Given the description of an element on the screen output the (x, y) to click on. 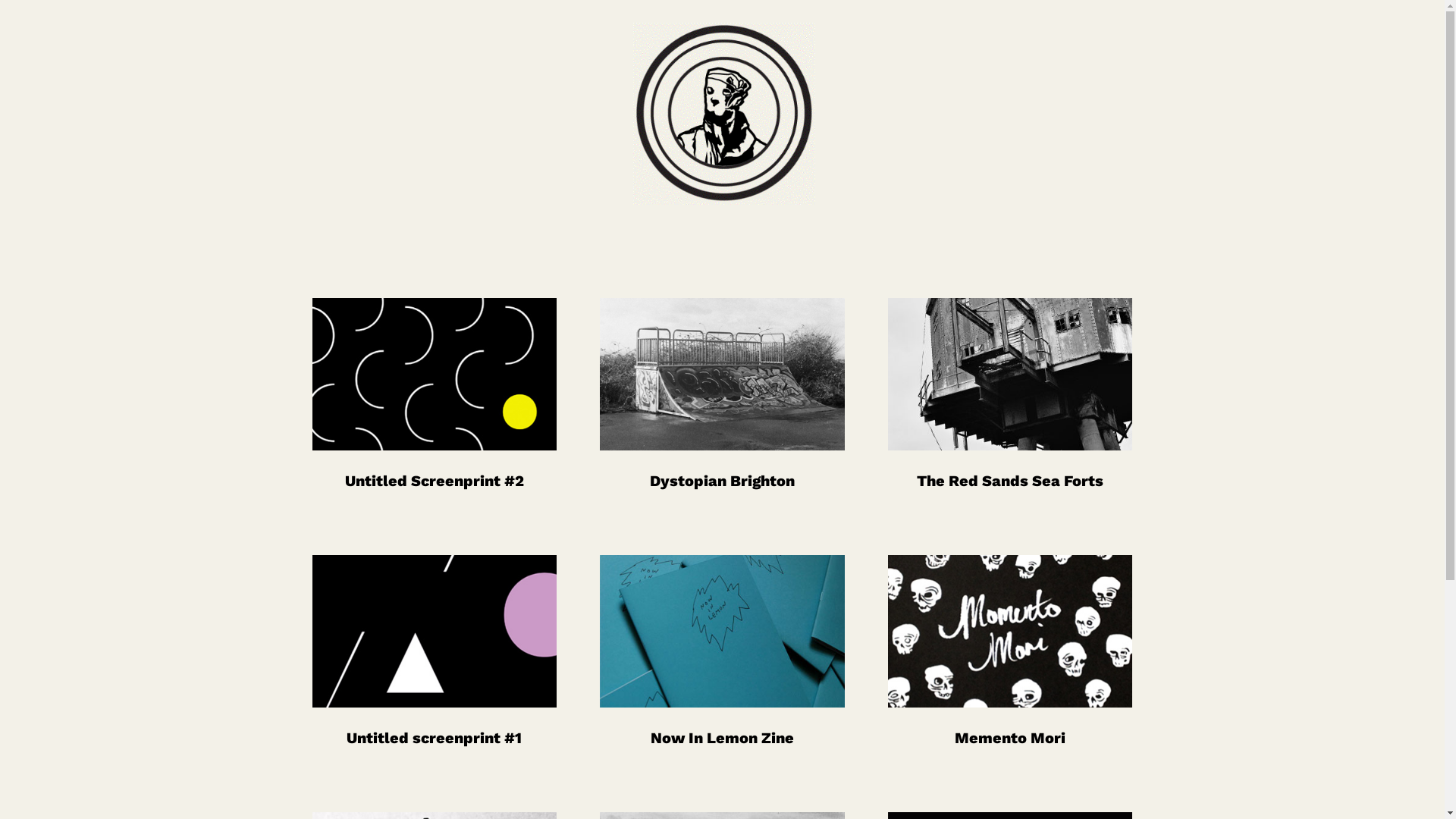
Now In Lemon Zine Element type: text (721, 737)
Untitled Screenprint #2 Element type: text (434, 480)
Untitled screenprint #1 Element type: text (433, 737)
Memento Mori Element type: text (1009, 737)
Dystopian Brighton Element type: text (721, 480)
The Red Sands Sea Forts Element type: text (1009, 480)
